Given the description of an element on the screen output the (x, y) to click on. 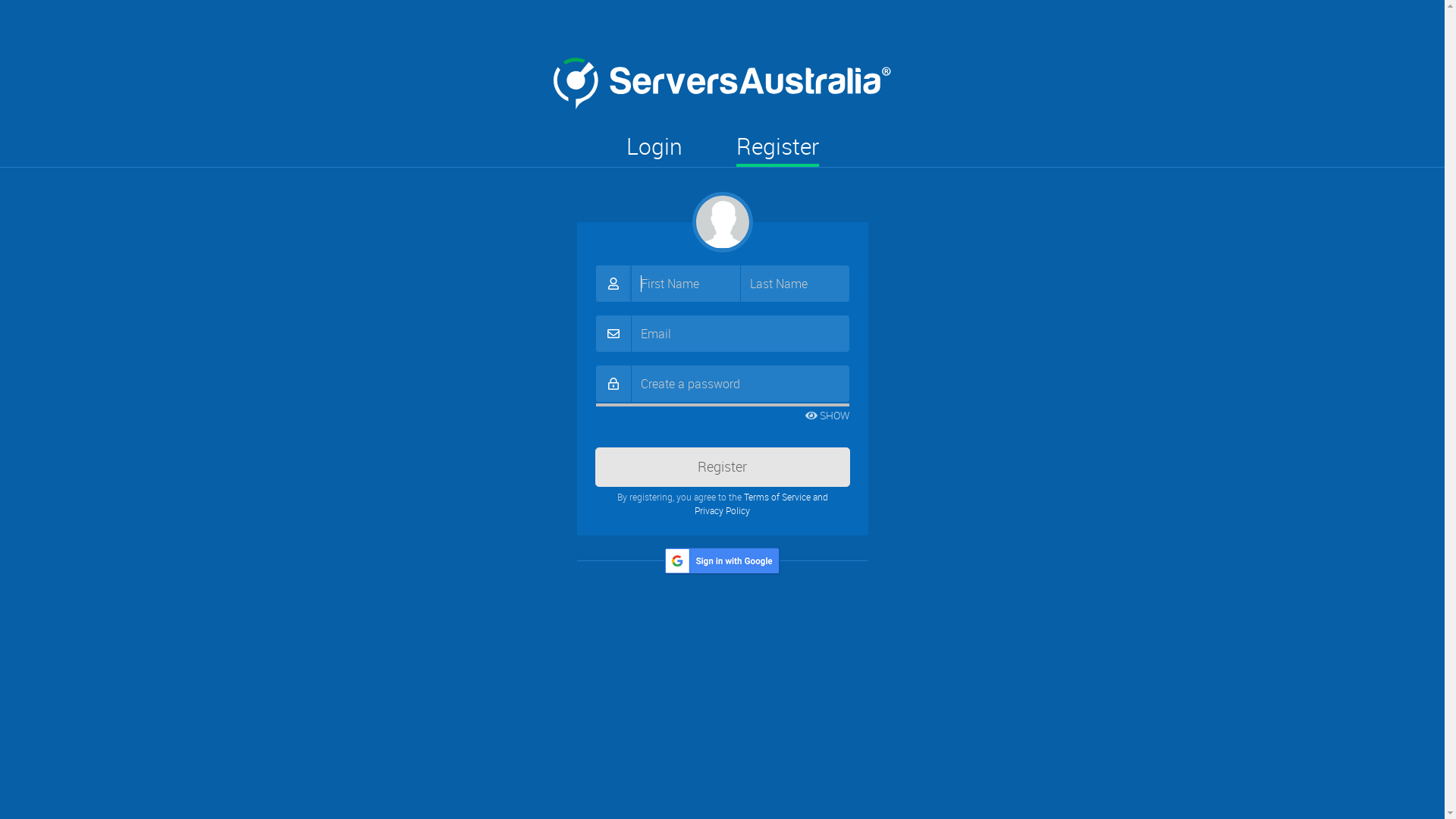
SHOW Element type: text (827, 415)
Register Element type: text (776, 147)
Terms of Service and Privacy Policy Element type: text (761, 503)
Login Element type: text (654, 147)
Register Element type: text (721, 466)
